Given the description of an element on the screen output the (x, y) to click on. 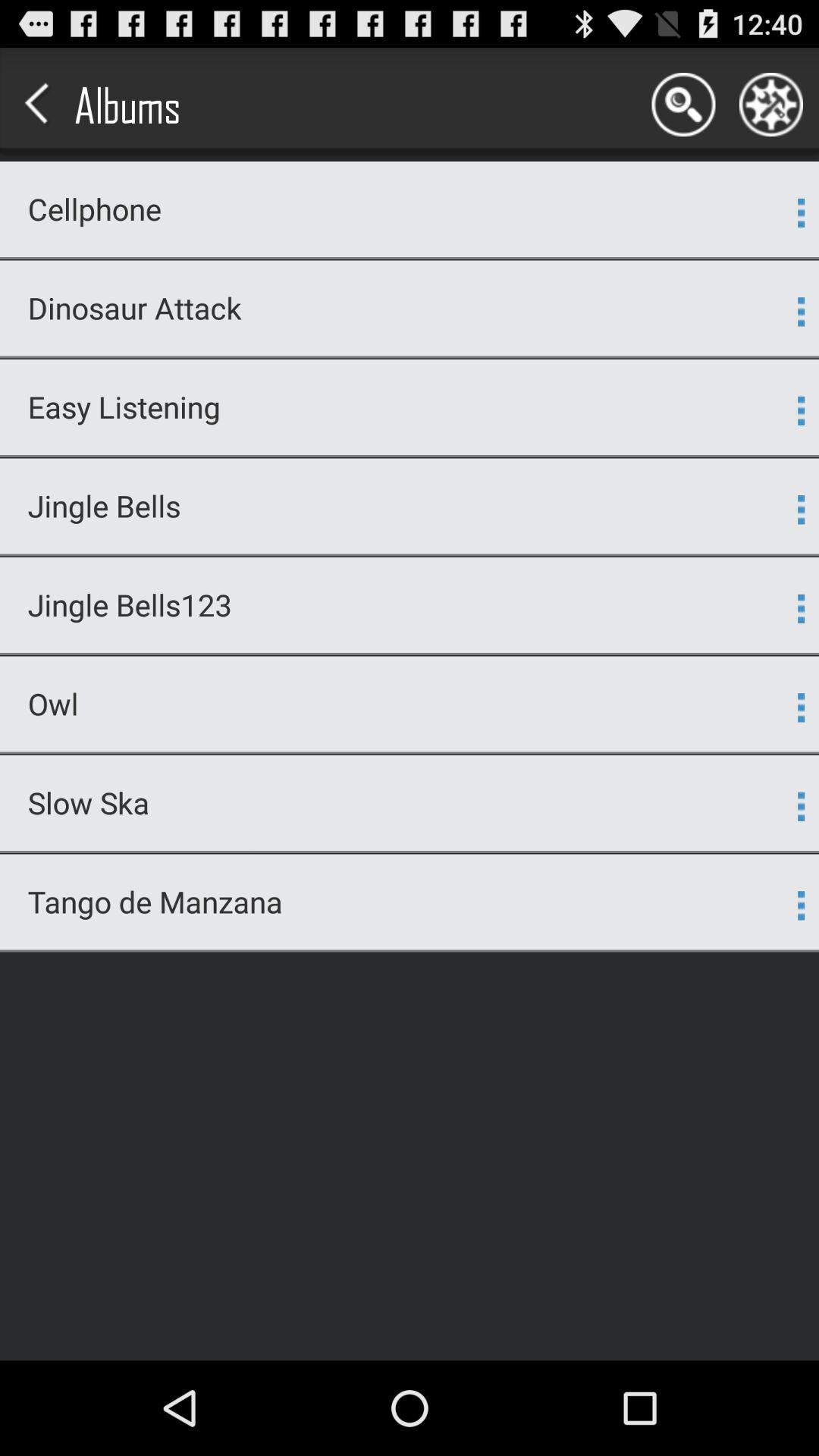
launch icon to the right of tango de manzana app (800, 905)
